Given the description of an element on the screen output the (x, y) to click on. 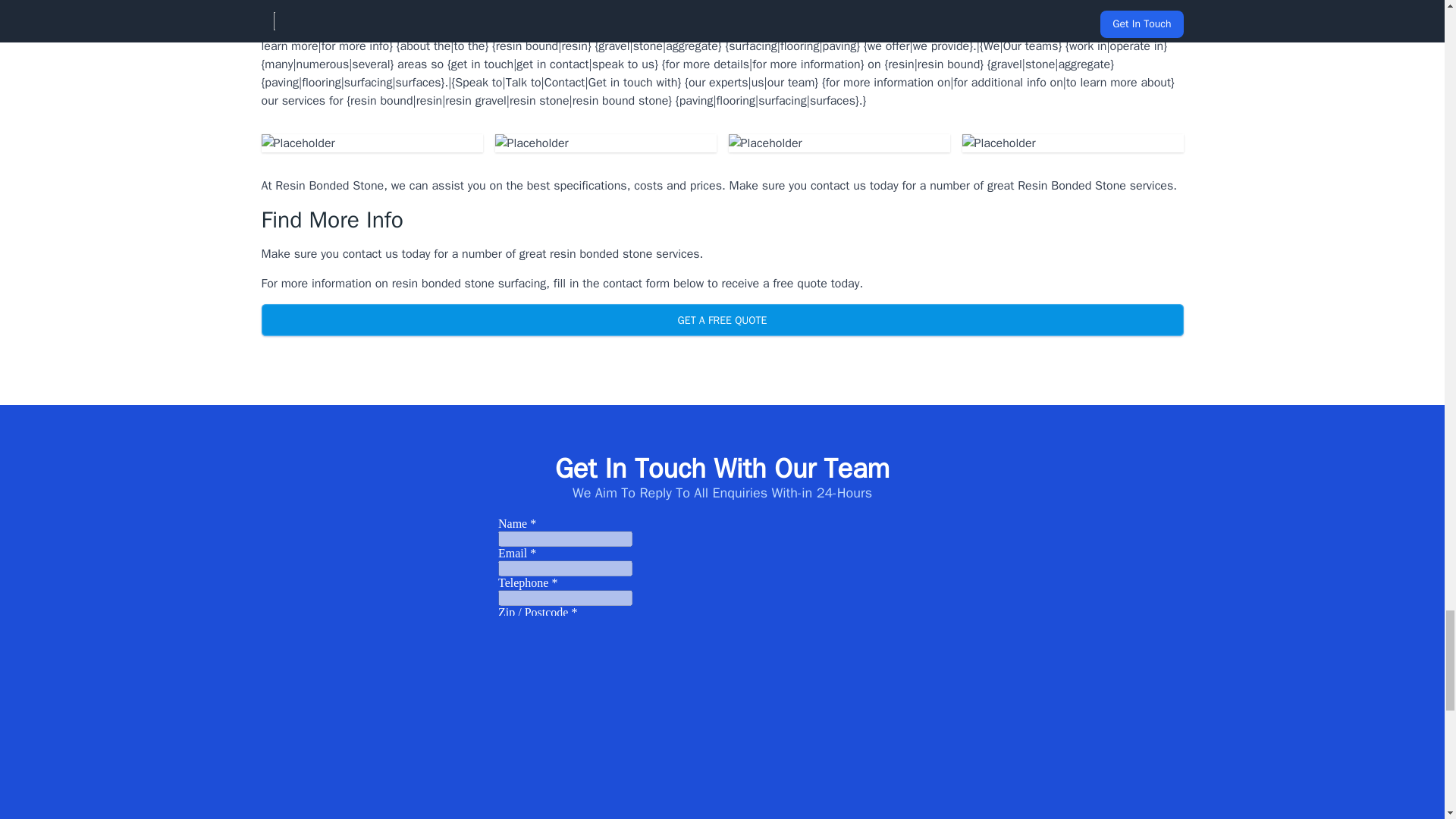
GET A FREE QUOTE (721, 319)
